Given the description of an element on the screen output the (x, y) to click on. 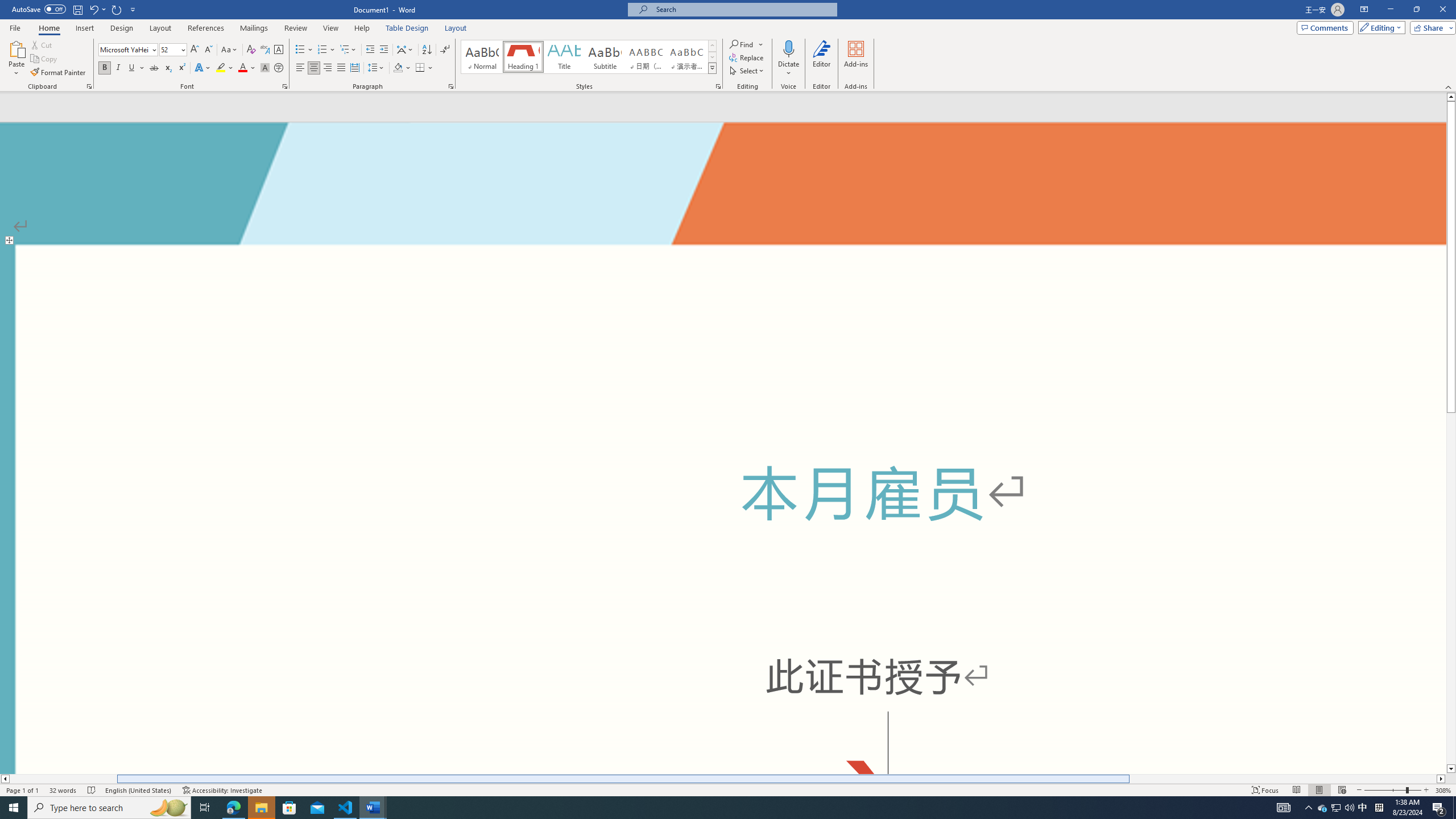
Multilevel List (347, 49)
Format Painter (58, 72)
Paragraph... (450, 85)
Sort... (426, 49)
Page 1 content (722, 489)
Undo Typing (92, 9)
Center (313, 67)
